Given the description of an element on the screen output the (x, y) to click on. 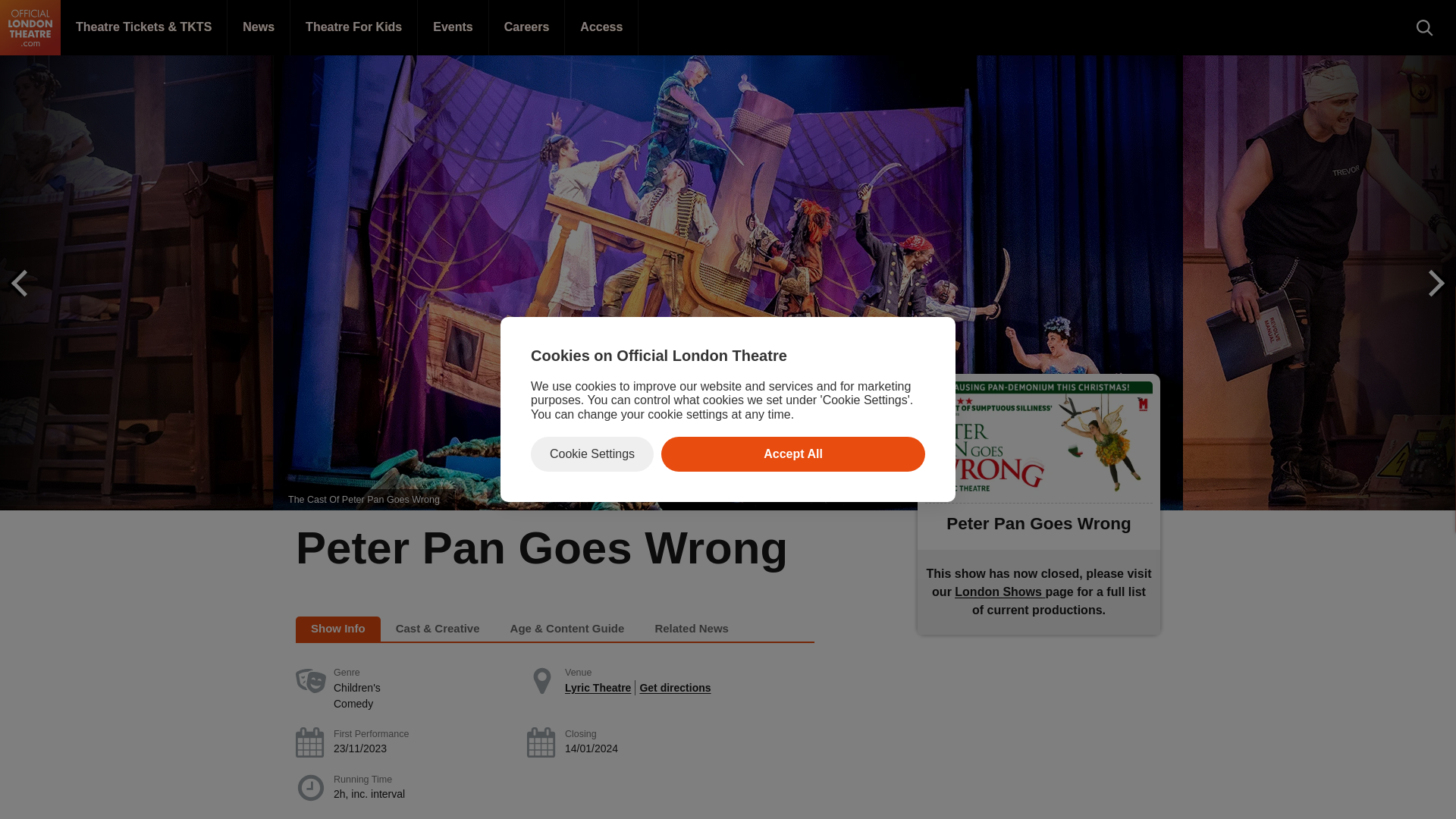
Events (452, 27)
Careers (527, 27)
News (258, 27)
Theatre For Kids (353, 27)
Access (601, 27)
